Given the description of an element on the screen output the (x, y) to click on. 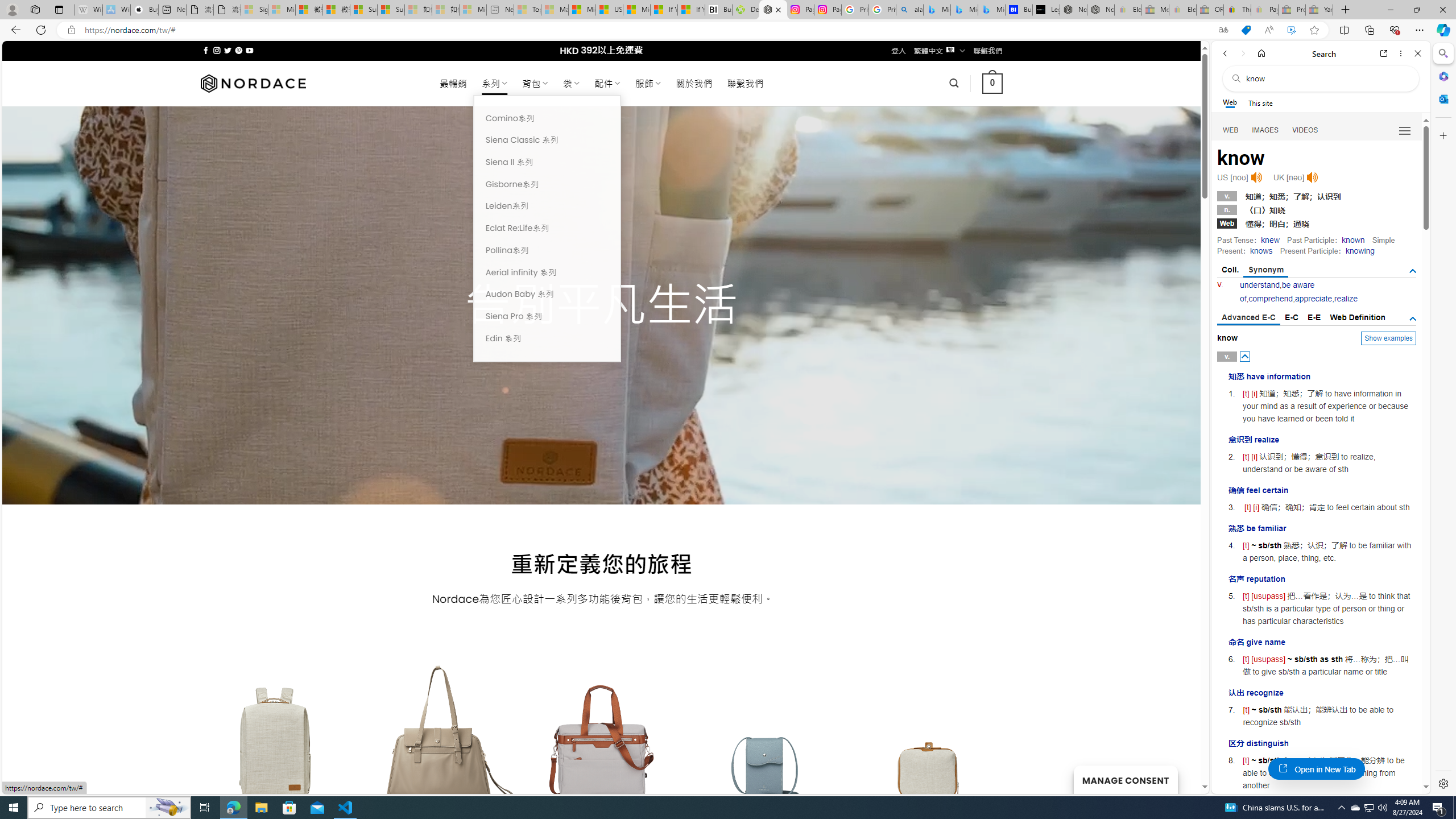
Coll. (1230, 269)
Web Definition (1357, 317)
Threats and offensive language policy | eBay (1236, 9)
Search Filter, IMAGES (1265, 129)
understand (1259, 284)
